Given the description of an element on the screen output the (x, y) to click on. 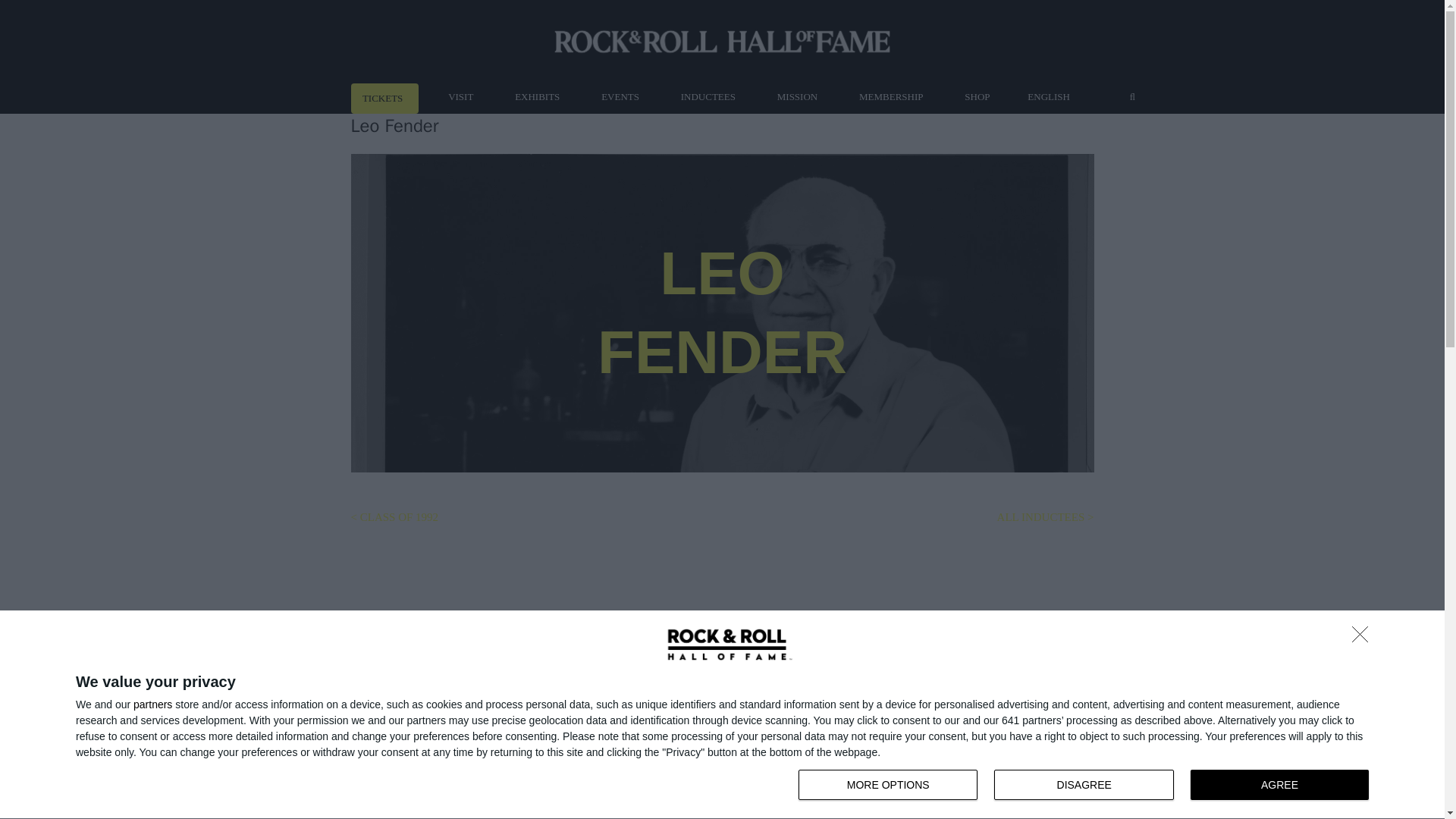
TICKETS (384, 98)
VISIT (460, 96)
ENGLISH (1050, 96)
DISAGREE (1083, 784)
AGREE (1279, 784)
English (1050, 96)
MEMBERSHIP (890, 96)
EXHIBITS (1086, 785)
MORE OPTIONS (537, 96)
INDUCTEES (886, 784)
SHOP (707, 96)
MISSION (977, 96)
partners (796, 96)
EVENTS (152, 704)
